Given the description of an element on the screen output the (x, y) to click on. 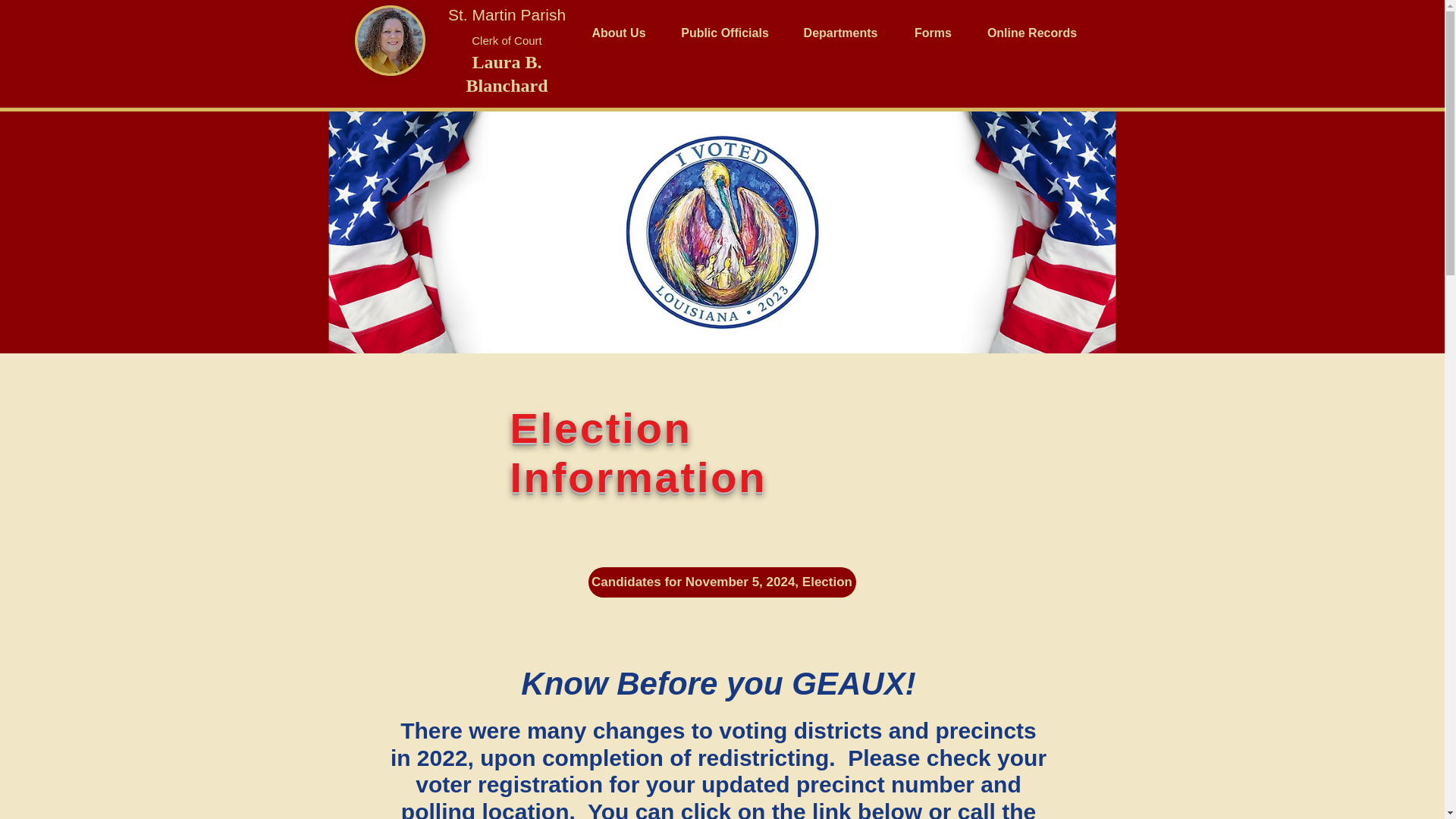
Departments (841, 32)
There (434, 730)
Forms (933, 32)
Candidates for November 5, 2024, Election (722, 582)
About Us (619, 32)
Clerk of Court (506, 40)
St. Martin Parish (507, 14)
Public Officials (723, 32)
Online Records (1032, 32)
Know Before you GEAUX! (718, 683)
